Given the description of an element on the screen output the (x, y) to click on. 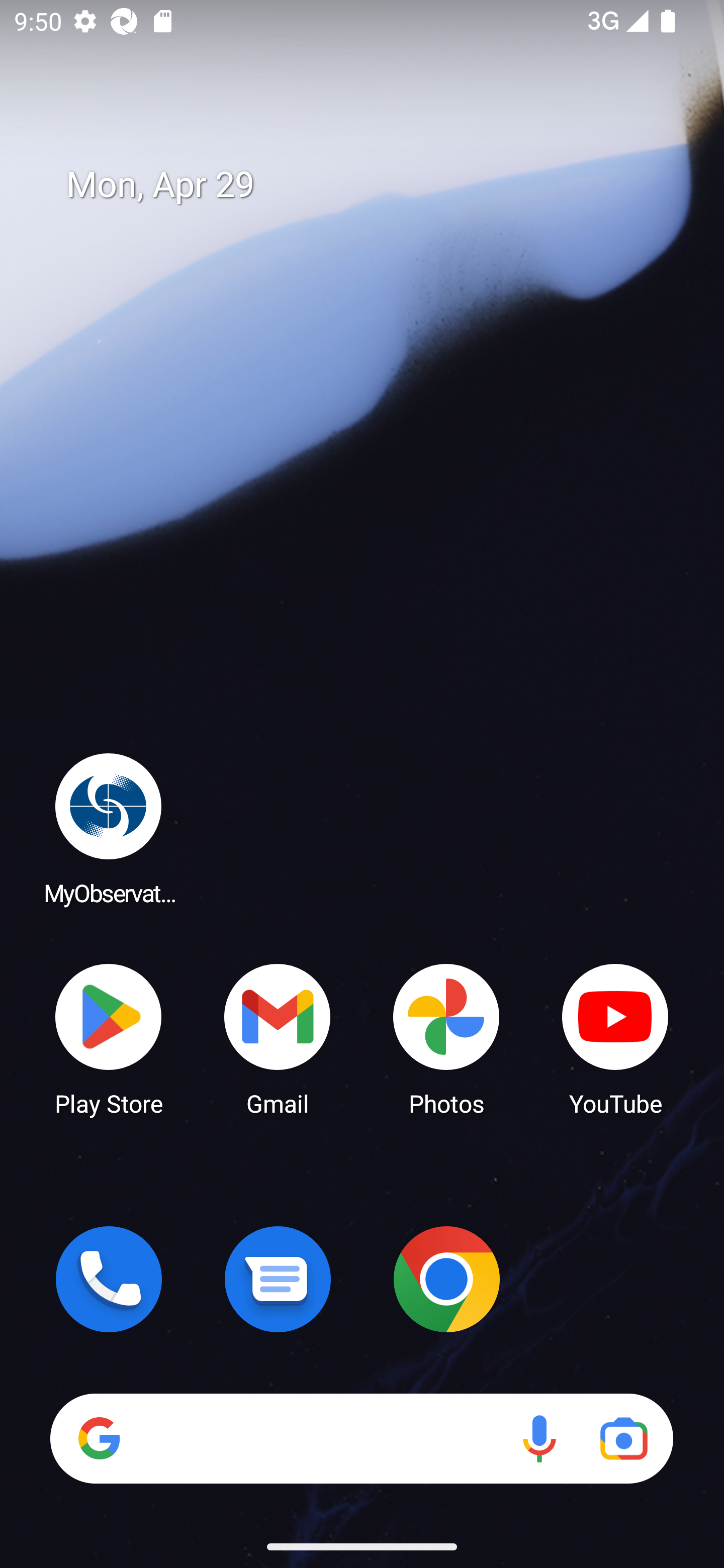
Mon, Apr 29 (375, 184)
MyObservatory (108, 828)
Play Store (108, 1038)
Gmail (277, 1038)
Photos (445, 1038)
YouTube (615, 1038)
Phone (108, 1279)
Messages (277, 1279)
Chrome (446, 1279)
Voice search (539, 1438)
Google Lens (623, 1438)
